Given the description of an element on the screen output the (x, y) to click on. 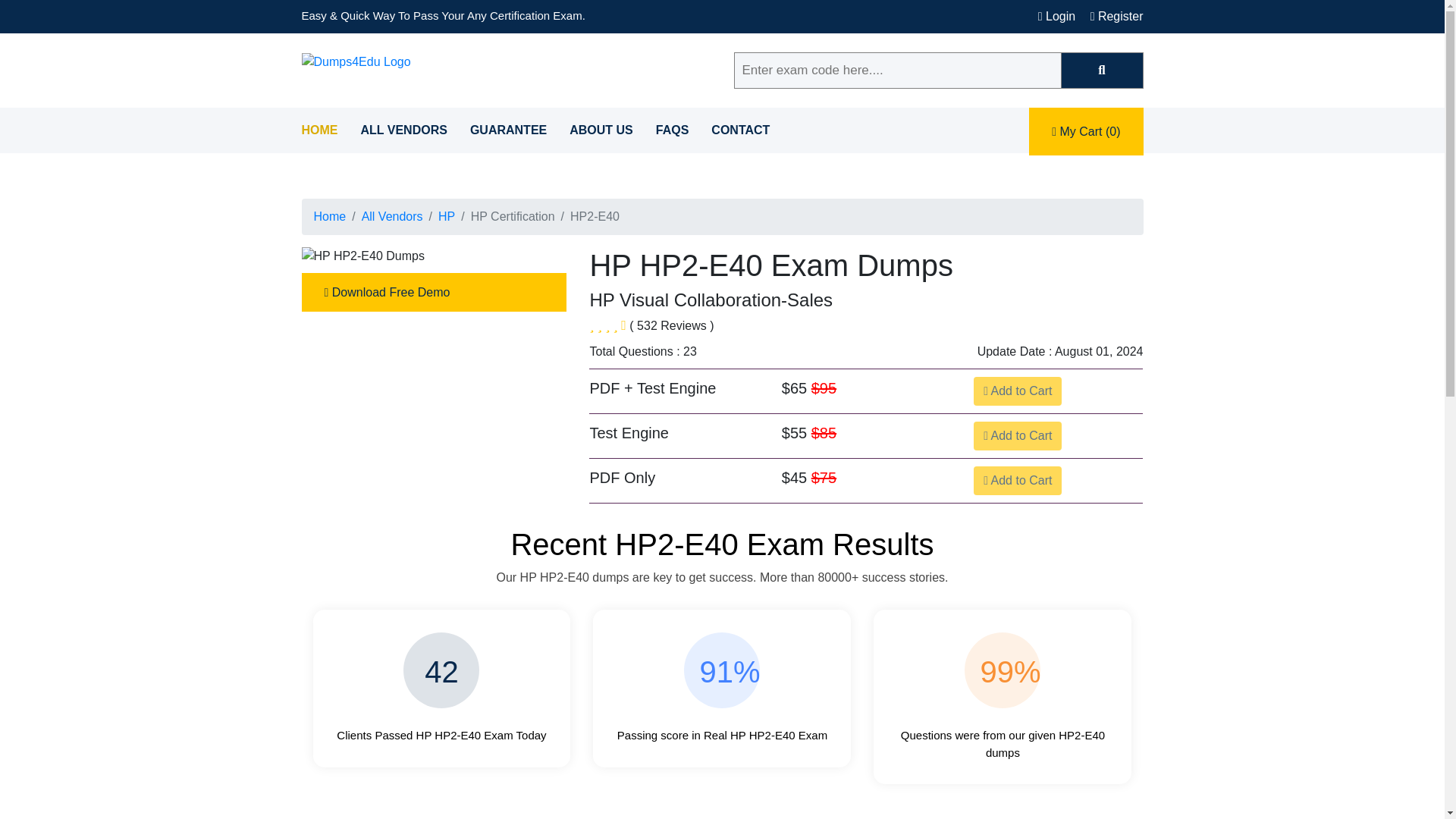
HOME (319, 128)
Download Free Demo (434, 292)
HP (446, 215)
FAQS (672, 128)
Logo (355, 62)
Home (330, 215)
Add to Cart (1017, 390)
Add to Cart (1017, 435)
All Vendors (392, 215)
Login (1056, 15)
CONTACT (740, 128)
Add to Cart (1017, 480)
GUARANTEE (508, 128)
ALL VENDORS (403, 128)
ABOUT US (601, 128)
